Given the description of an element on the screen output the (x, y) to click on. 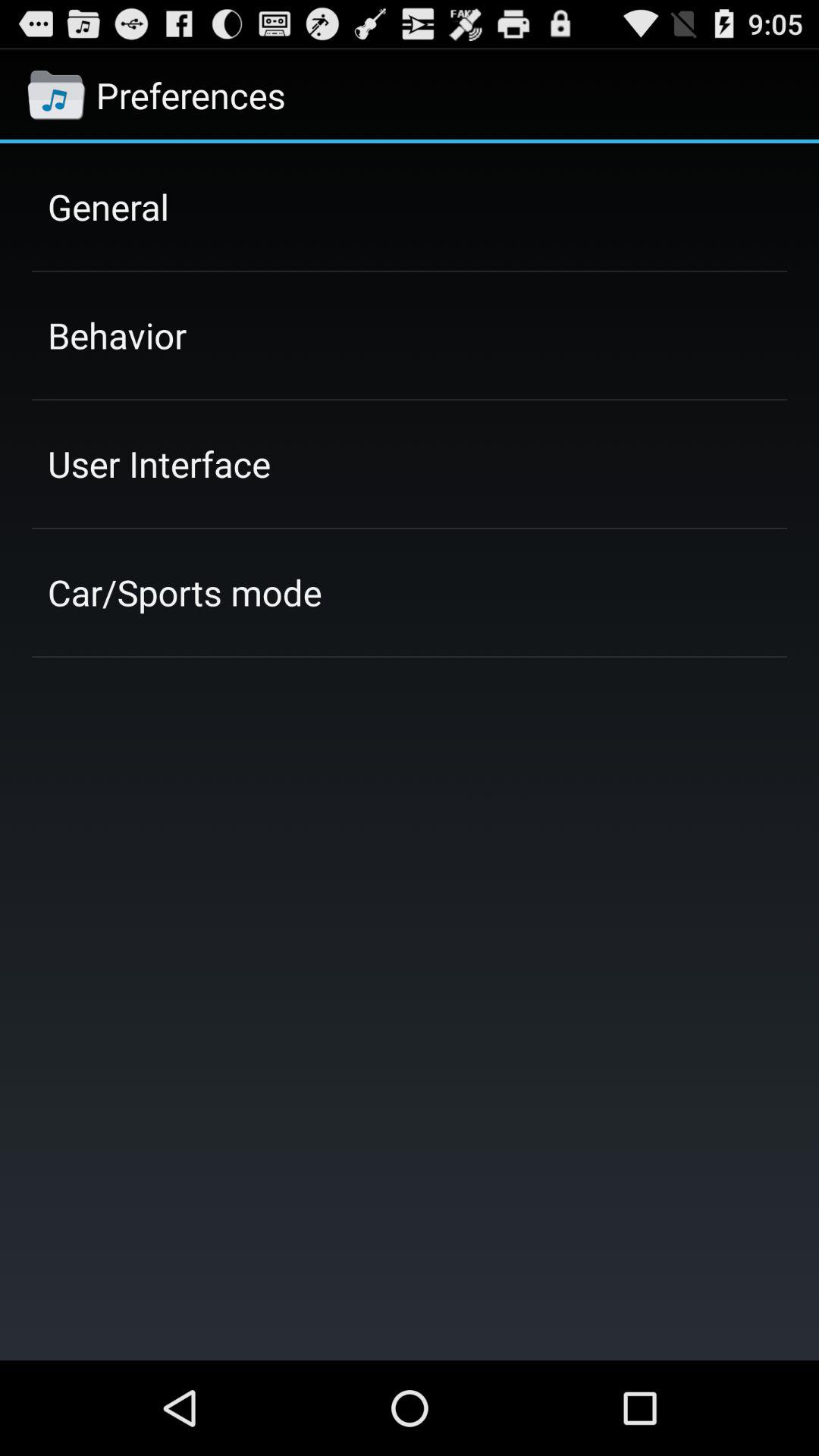
flip until the user interface app (158, 463)
